Given the description of an element on the screen output the (x, y) to click on. 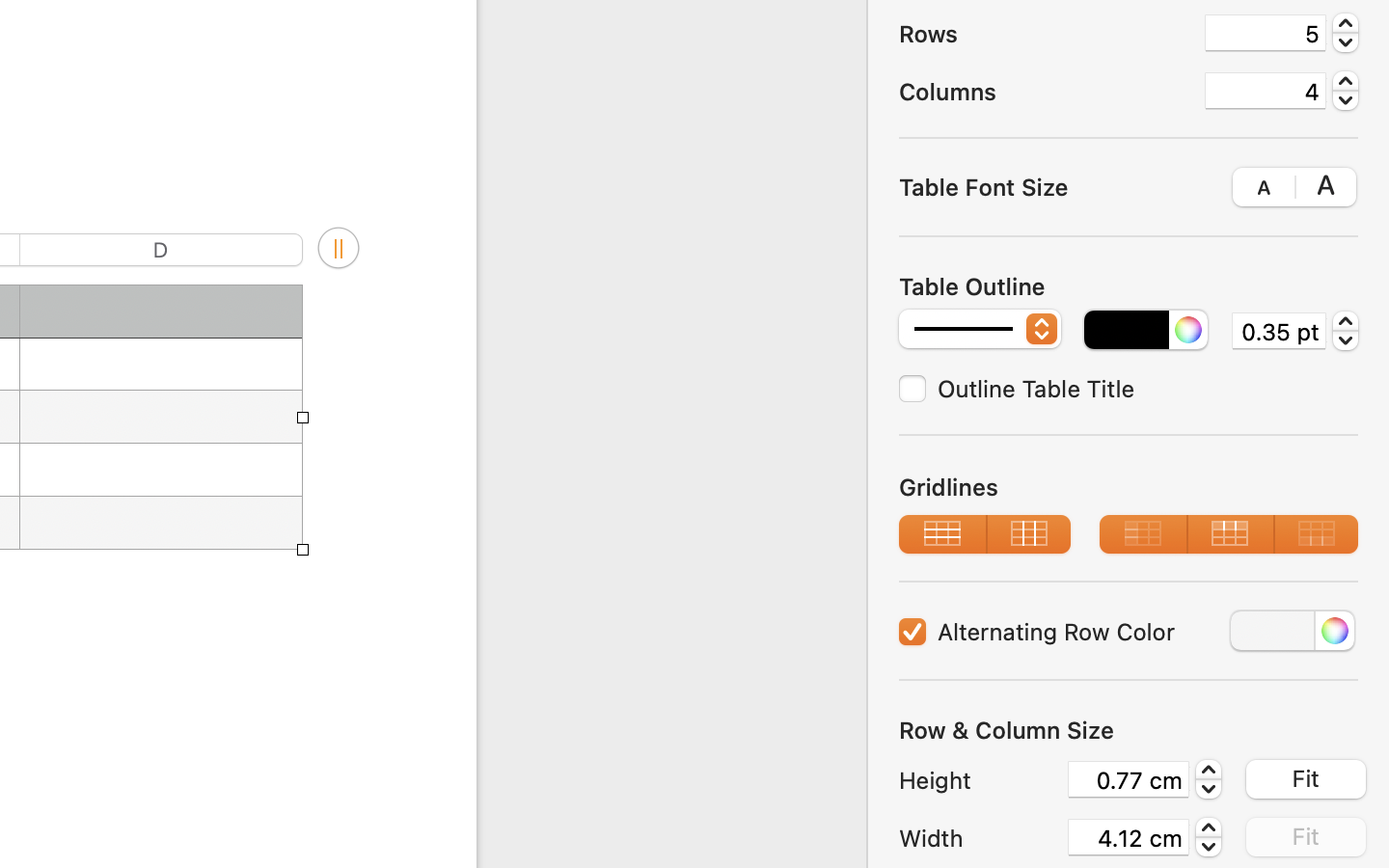
0.3499999940395355 Element type: AXIncrementor (1345, 329)
Height Element type: AXStaticText (978, 779)
21.93000000119209 Element type: AXIncrementor (1208, 779)
